Given the description of an element on the screen output the (x, y) to click on. 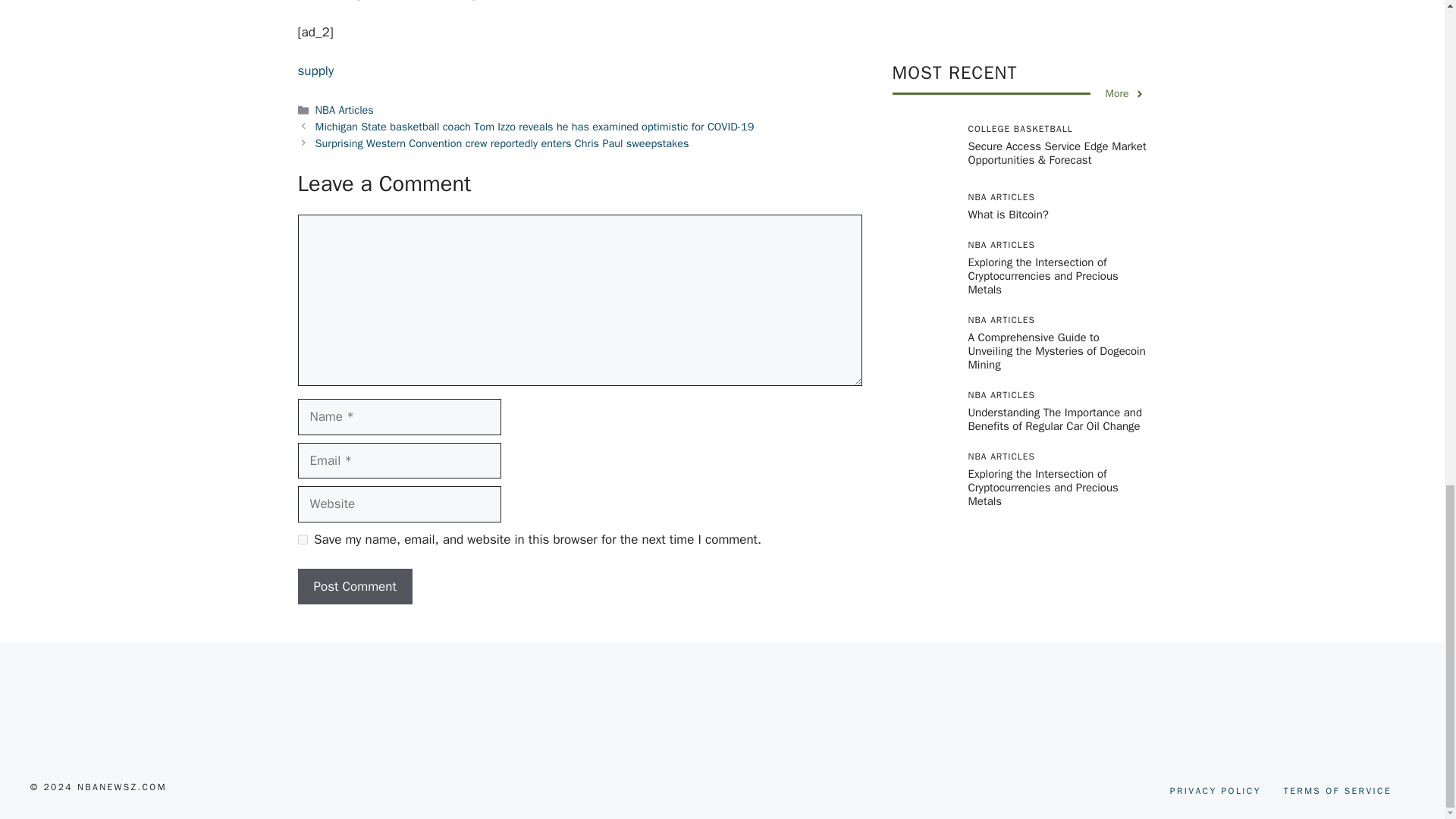
NBA Articles (344, 110)
supply (315, 70)
yes (302, 539)
Post Comment (354, 586)
Post Comment (354, 586)
PRIVACY POLICY (1215, 790)
TERMS OF SERVICE (1337, 790)
